Given the description of an element on the screen output the (x, y) to click on. 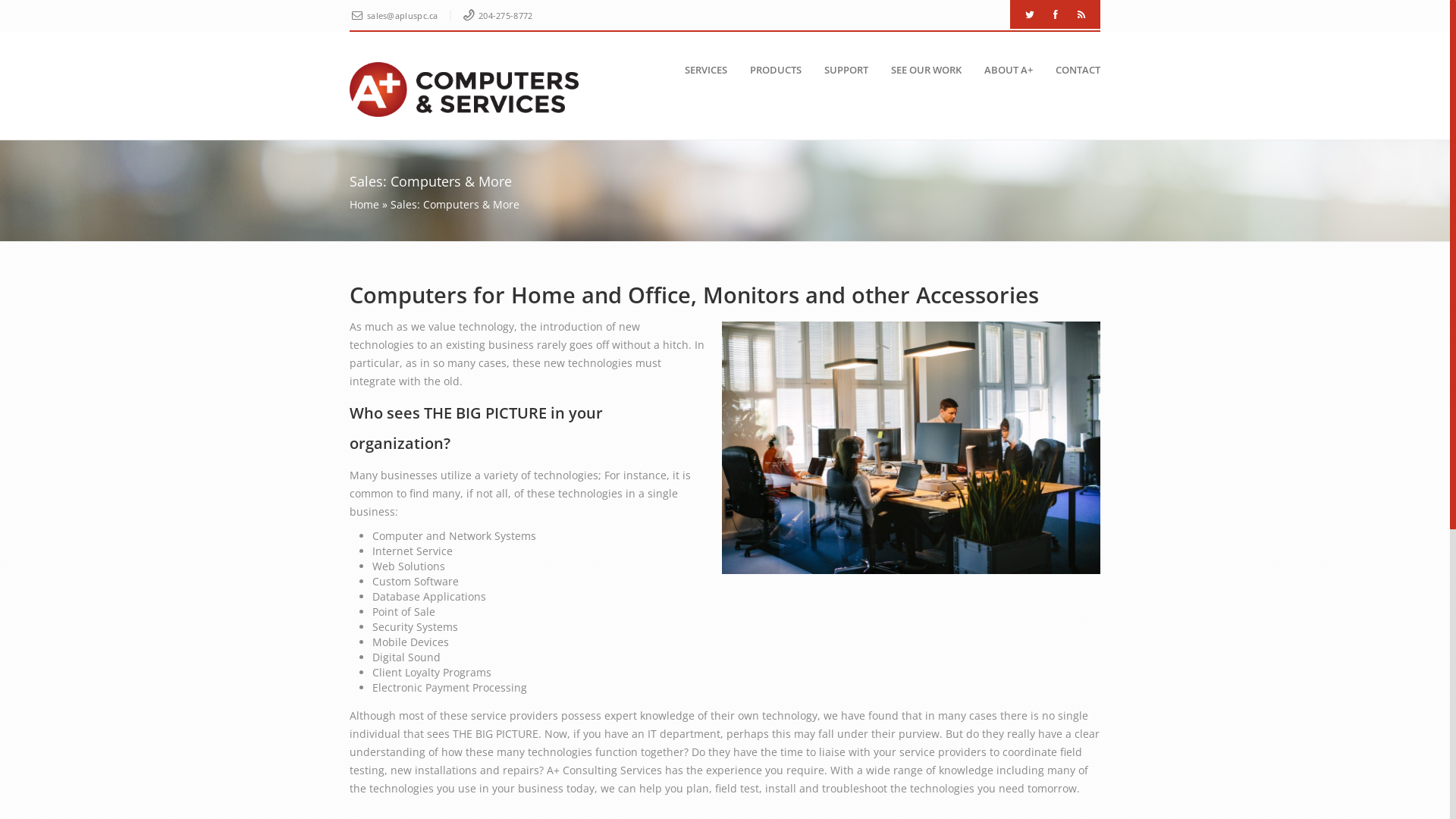
PRODUCTS Element type: text (768, 69)
CONTACT Element type: text (1070, 69)
A+ Computers & Services Element type: hover (463, 89)
SERVICES Element type: text (699, 69)
Home Element type: text (364, 204)
SEE OUR WORK Element type: text (919, 69)
SUPPORT Element type: text (839, 69)
Facebook Element type: hover (1055, 14)
Twitter Element type: hover (1028, 14)
ABOUT A+ Element type: text (1001, 69)
